Given the description of an element on the screen output the (x, y) to click on. 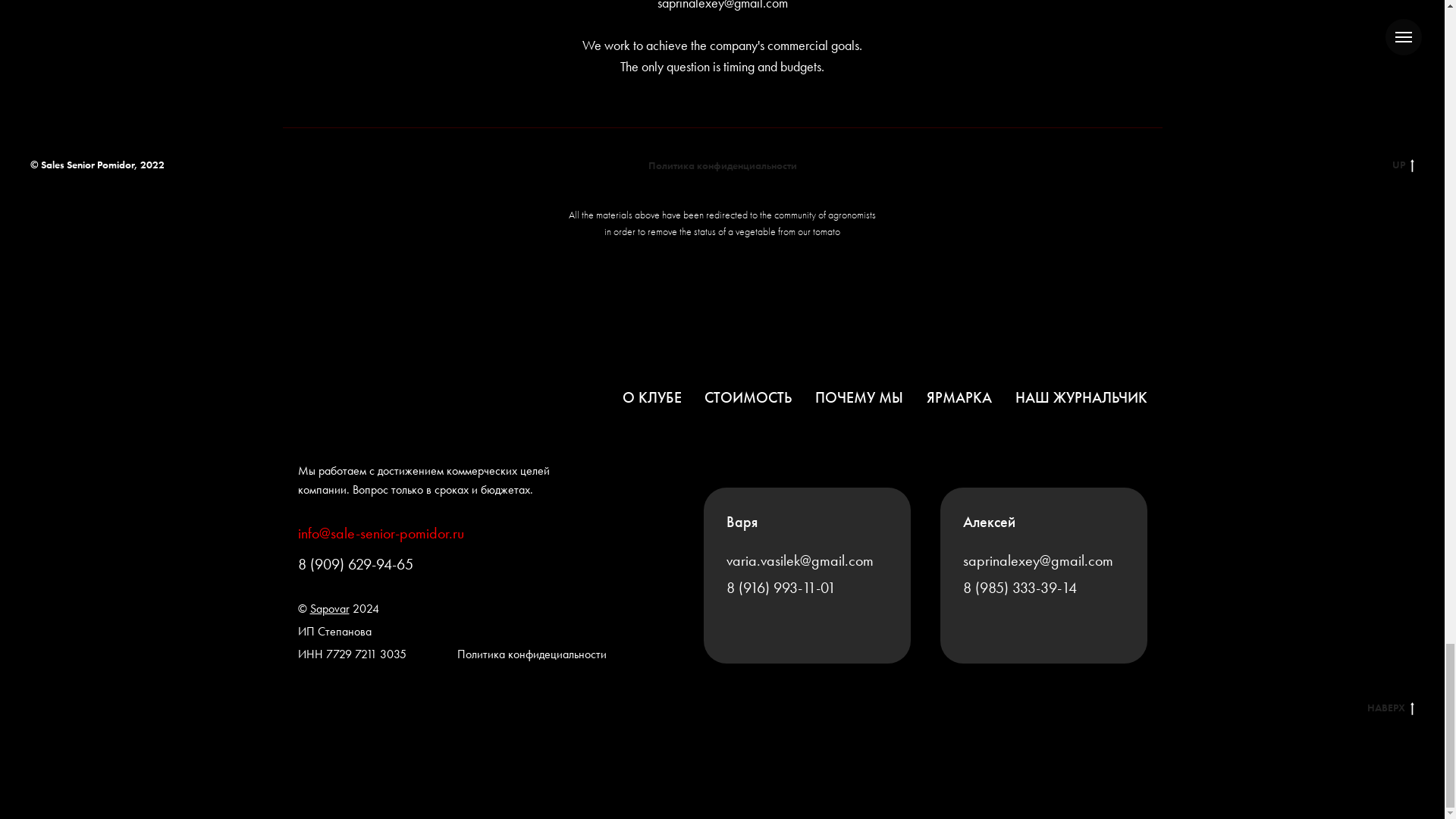
UP (1318, 164)
UP (1402, 164)
